Given the description of an element on the screen output the (x, y) to click on. 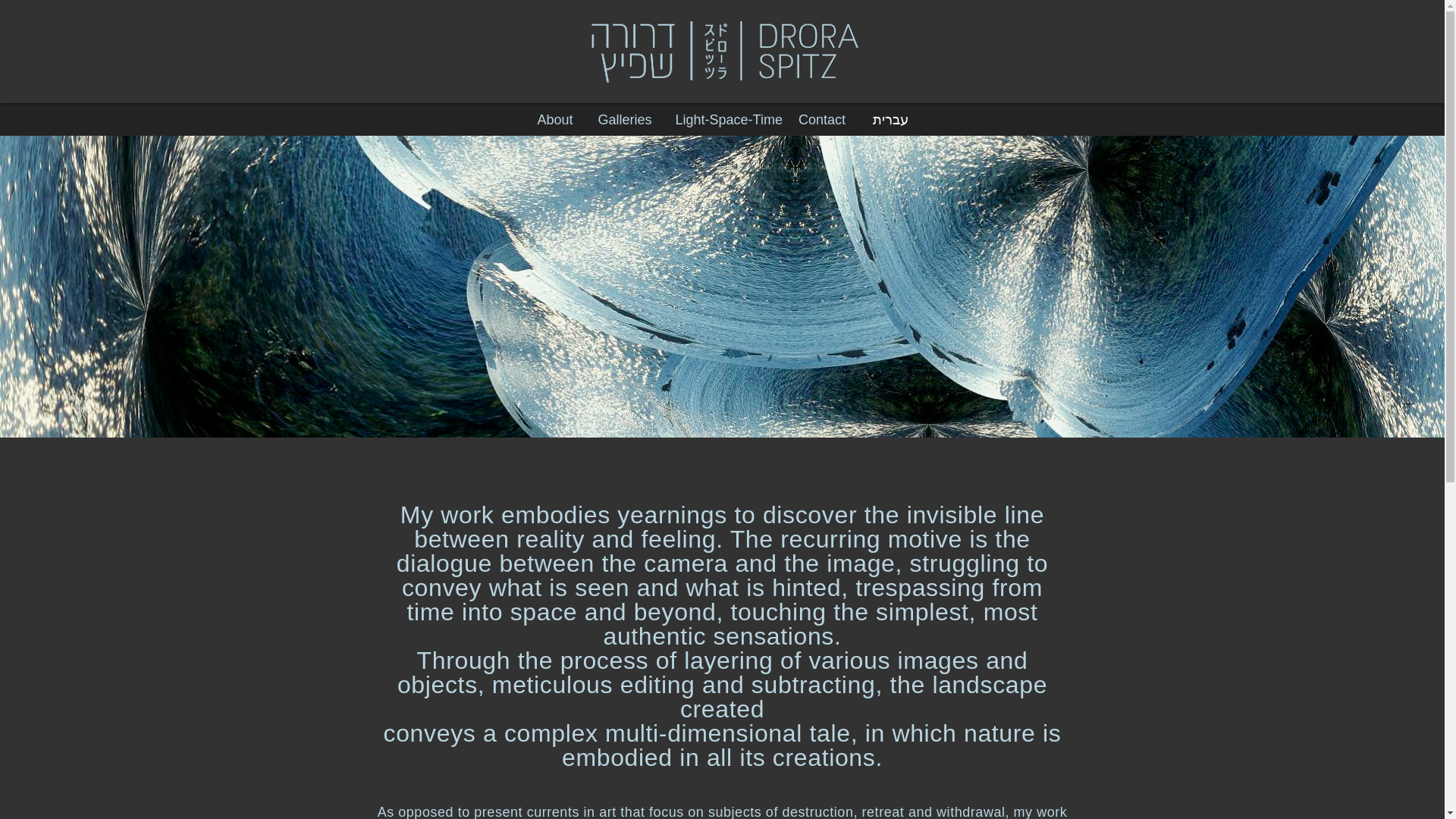
Contact (820, 120)
Light-Space-Time (728, 120)
About (554, 120)
Galleries (624, 120)
